Given the description of an element on the screen output the (x, y) to click on. 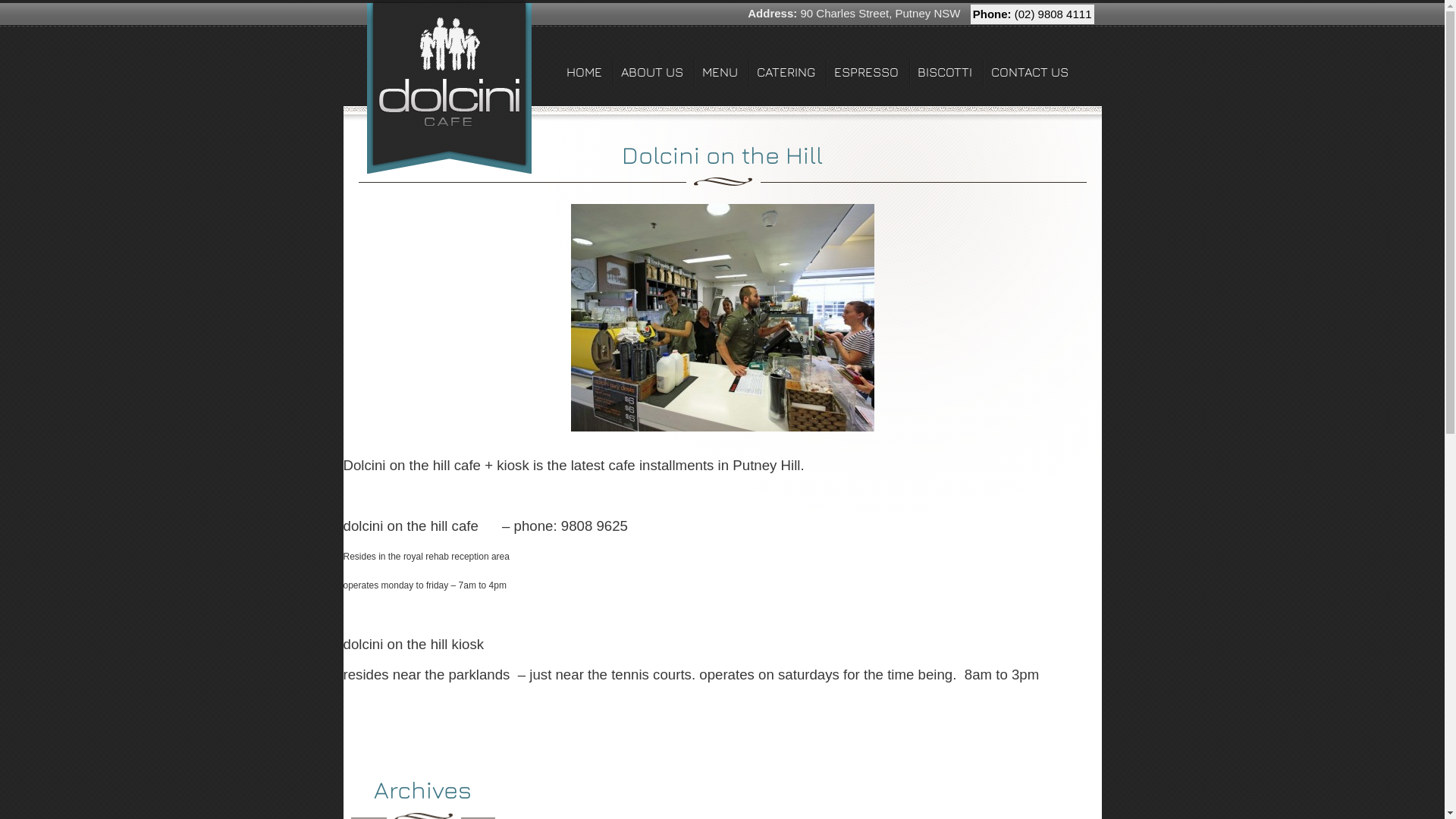
CONTACT US Element type: text (1030, 61)
HOME Element type: text (585, 61)
CATERING Element type: text (786, 61)
MENU Element type: text (720, 61)
Cafe Espresso Element type: hover (449, 86)
ABOUT US Element type: text (652, 61)
ESPRESSO Element type: text (866, 61)
BISCOTTI Element type: text (945, 61)
